Given the description of an element on the screen output the (x, y) to click on. 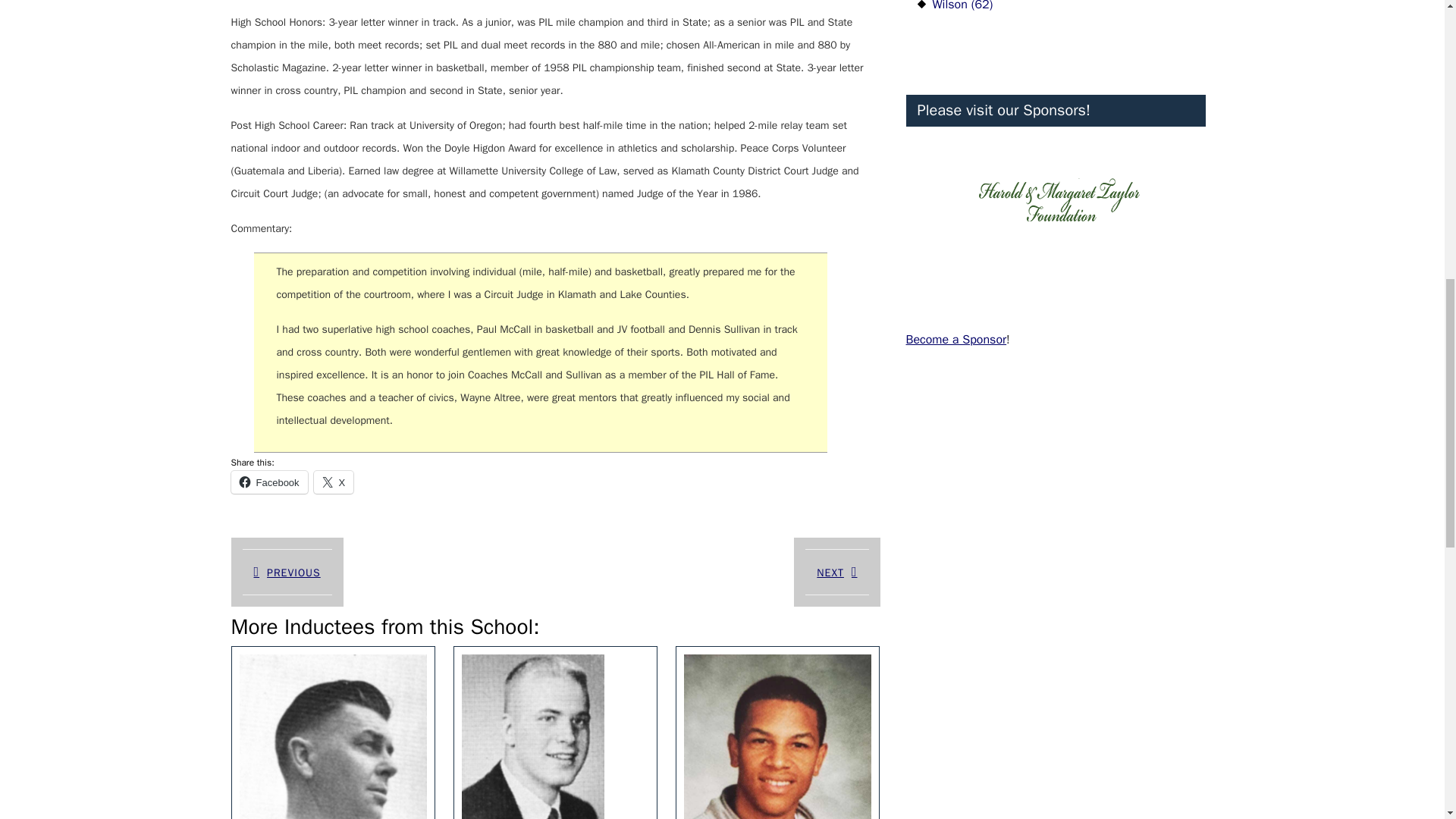
Click to share on X (333, 481)
Click to share on Facebook (268, 481)
Facebook (286, 571)
X (268, 481)
